Given the description of an element on the screen output the (x, y) to click on. 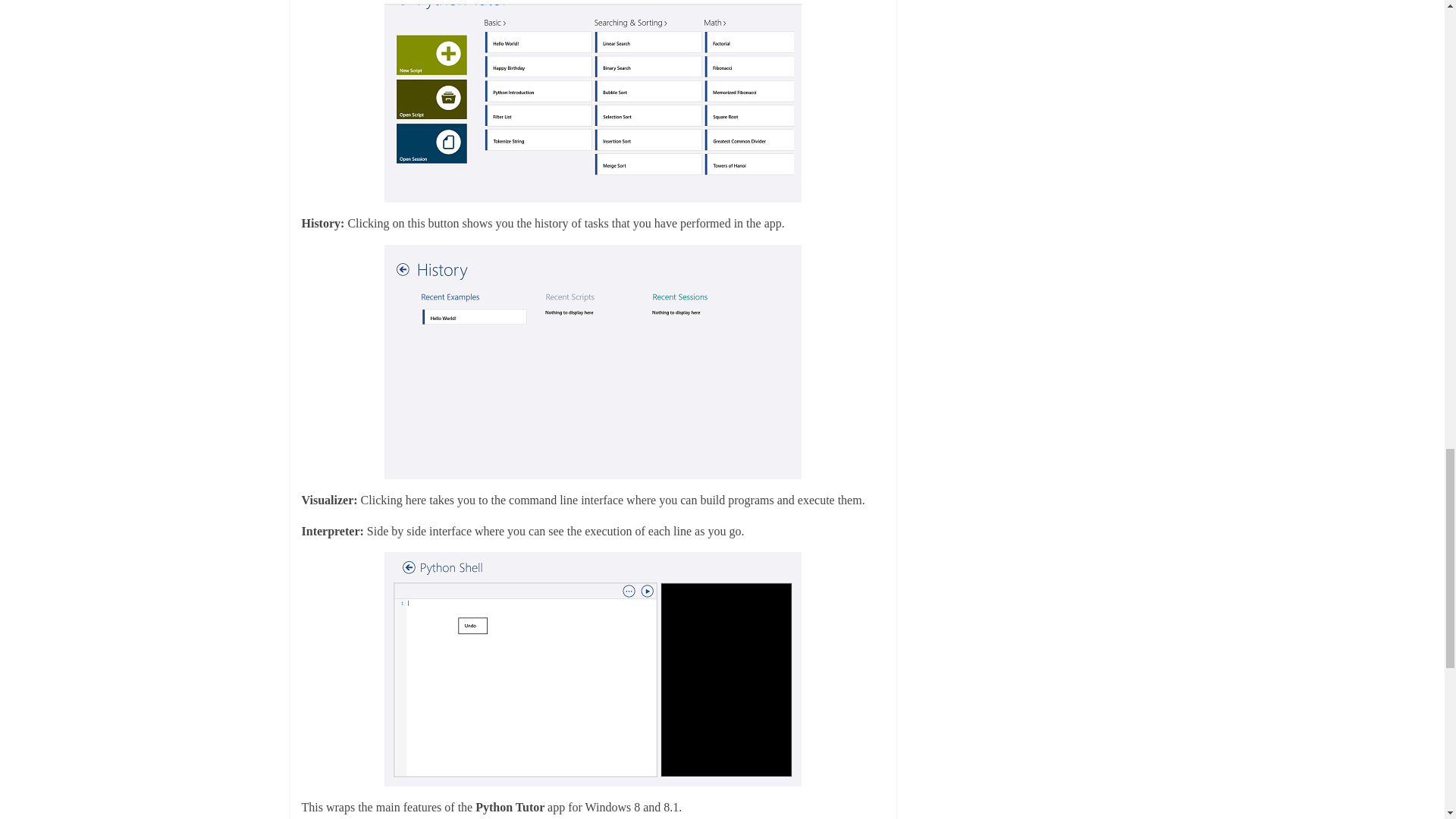
Python Tutor built in python shell (593, 669)
Python Tutor History (593, 361)
Python Tutor control bars (593, 101)
